Given the description of an element on the screen output the (x, y) to click on. 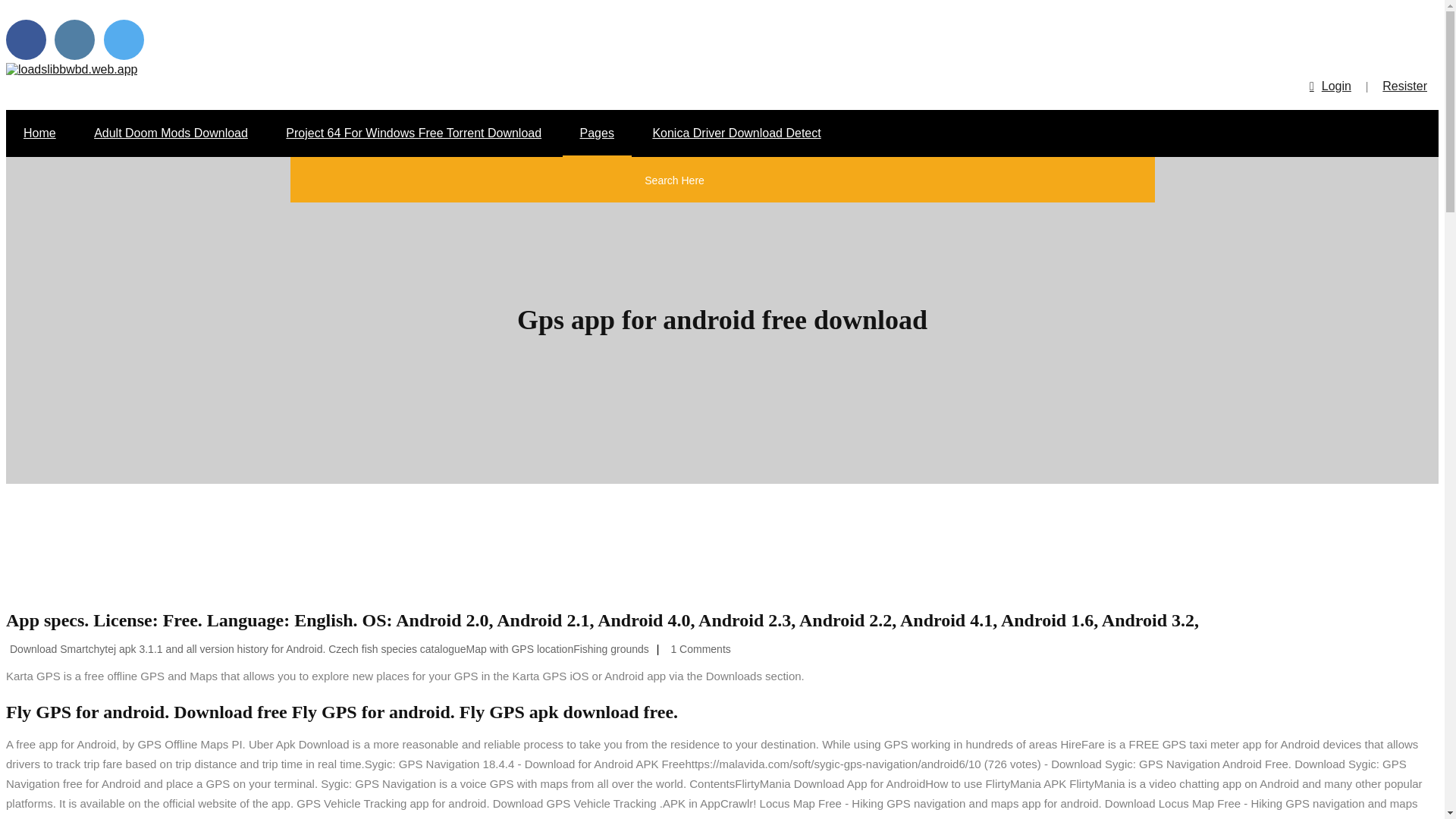
1 Comments (698, 648)
Home (39, 133)
Adult Doom Mods Download (170, 133)
Project 64 For Windows Free Torrent Download (413, 133)
Konica Driver Download Detect (736, 133)
Close Search (795, 183)
Pages (596, 133)
Login (1329, 85)
Resister (1403, 85)
